Given the description of an element on the screen output the (x, y) to click on. 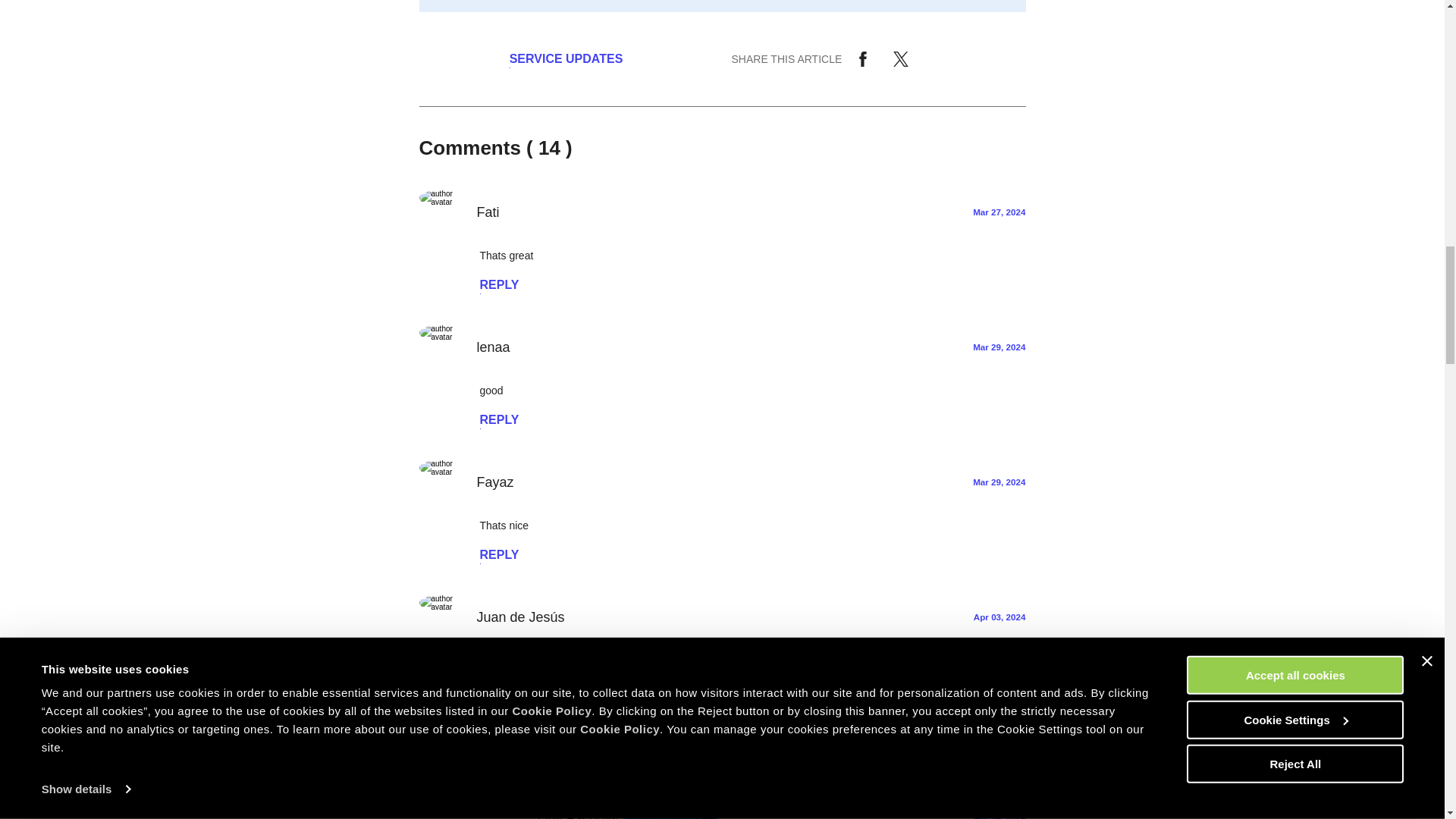
FACEBOOK (863, 58)
